Given the description of an element on the screen output the (x, y) to click on. 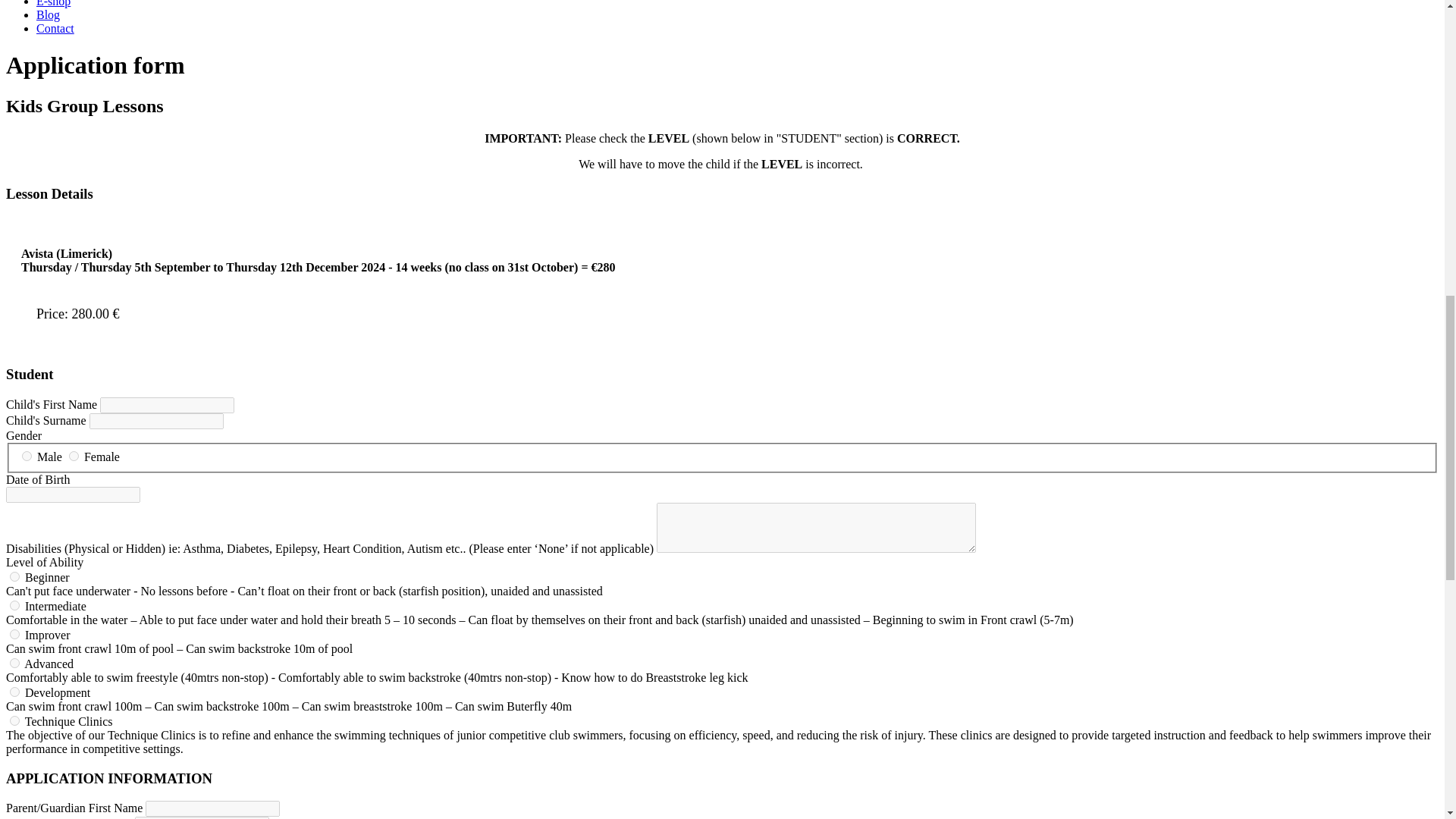
male (26, 456)
Advanced (15, 663)
Development (15, 691)
Intermediate (15, 605)
Improver (15, 634)
Technique Clinics (15, 720)
female (73, 456)
Beginner (15, 576)
